Given the description of an element on the screen output the (x, y) to click on. 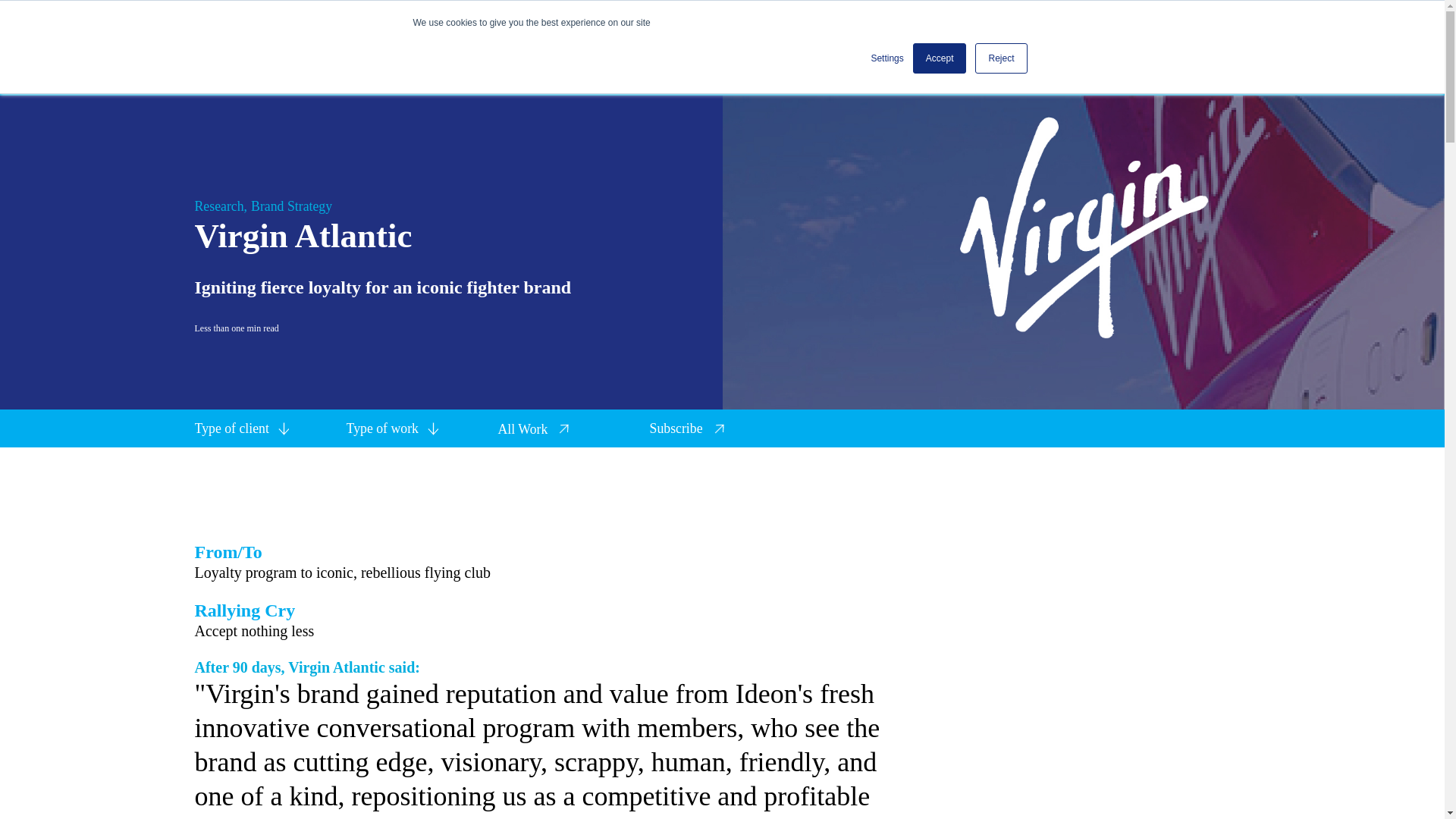
Book a Demo (1198, 775)
Work (578, 14)
Type of client (230, 428)
Resources (692, 14)
Brand Strategy (290, 206)
All Work (533, 428)
Privacy (1028, 775)
Book a Demo! (1079, 15)
2021 Ideon Inc. All rights reserved. (336, 775)
Accept (939, 58)
Settings (886, 58)
Book a Demo! (1079, 15)
Terms of Use (1107, 775)
Type of work (381, 428)
ideon-brand-agency.jpg (237, 14)
